Given the description of an element on the screen output the (x, y) to click on. 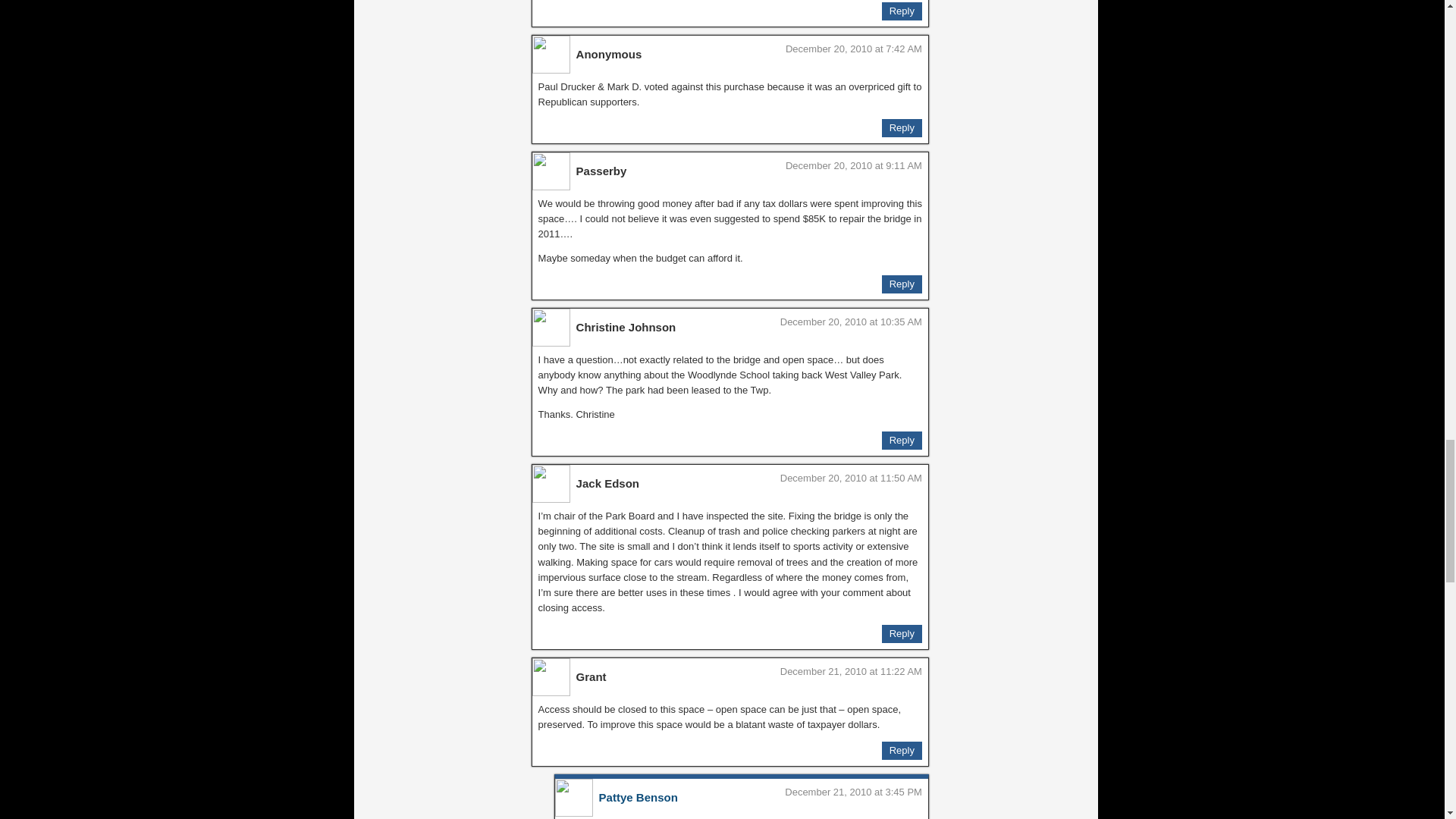
December 20, 2010 at 9:11 AM (853, 165)
December 20, 2010 at 11:50 AM (850, 478)
December 21, 2010 at 11:22 AM (850, 671)
Reply (901, 11)
Reply (901, 440)
December 20, 2010 at 7:42 AM (853, 48)
Reply (901, 284)
Reply (901, 633)
December 20, 2010 at 10:35 AM (850, 321)
Reply (901, 127)
